Given the description of an element on the screen output the (x, y) to click on. 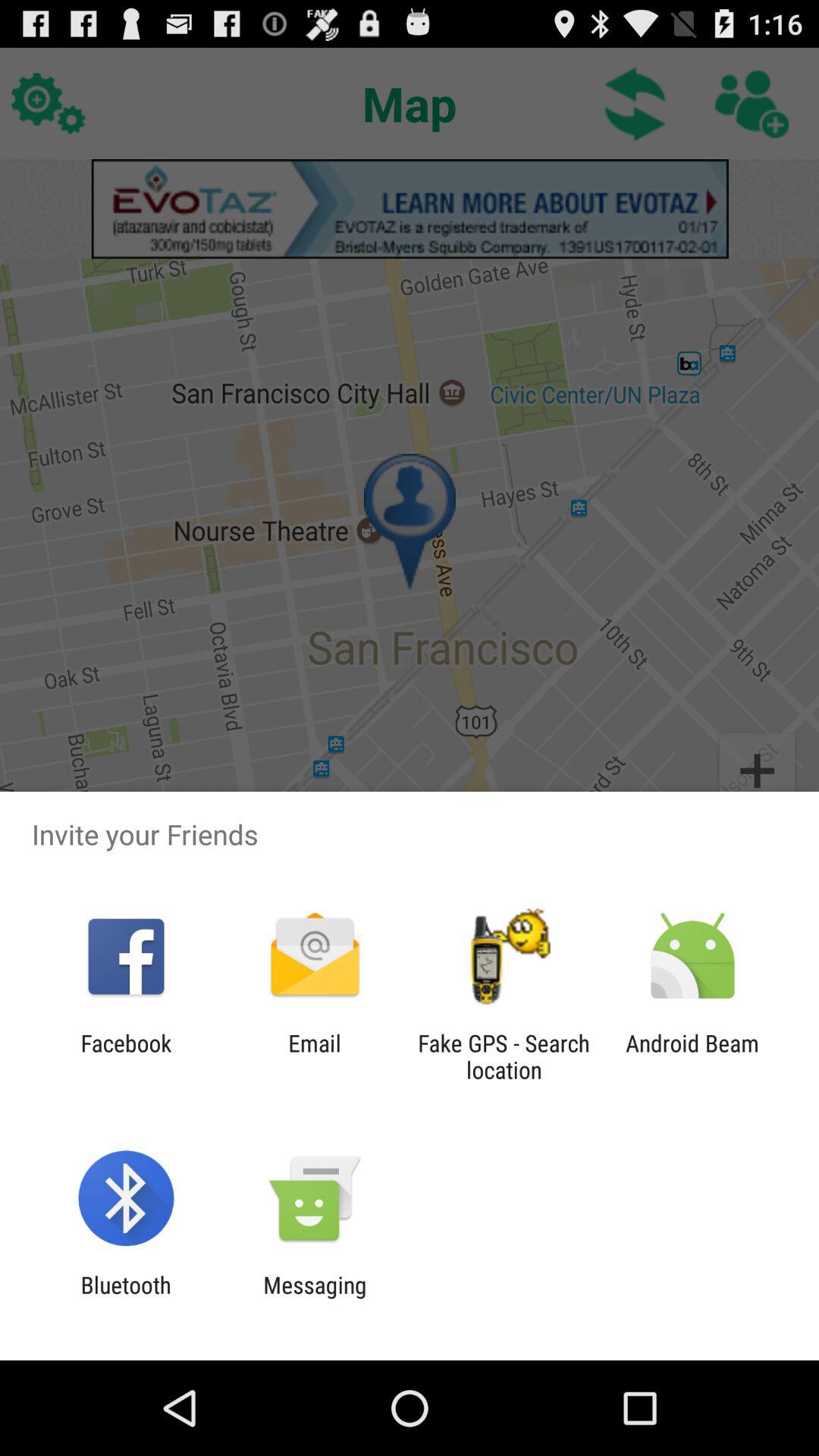
press the fake gps search item (503, 1056)
